Given the description of an element on the screen output the (x, y) to click on. 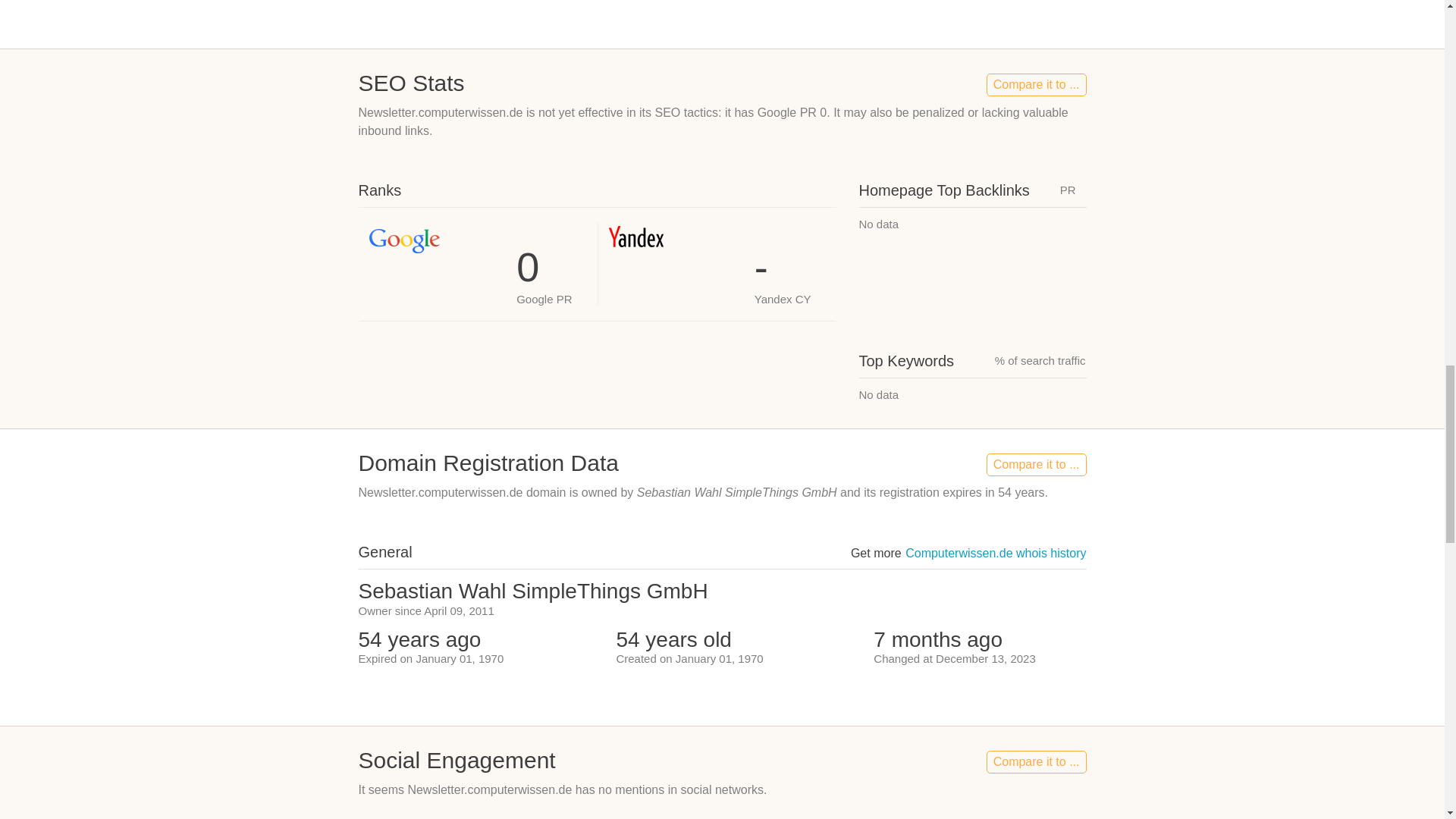
Compare it to ... (1036, 464)
Compare it to ... (1036, 762)
Computerwissen.de whois history (995, 553)
Compare it to ... (1036, 84)
